Given the description of an element on the screen output the (x, y) to click on. 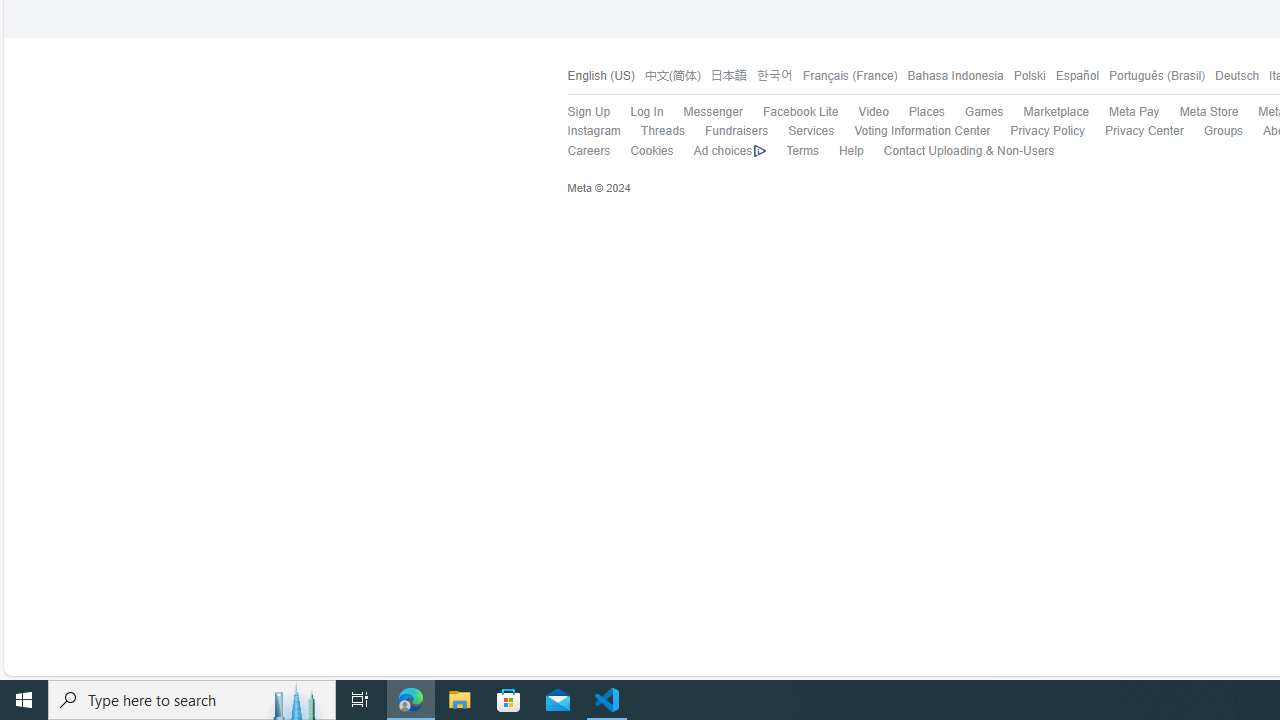
Bahasa Indonesia (950, 75)
Help (851, 150)
Meta Pay (1133, 112)
Meta Pay (1123, 112)
Polski (1028, 76)
Contact Uploading & Non-Users (958, 151)
Messenger (702, 112)
Services (801, 131)
Careers (588, 150)
Ad choices (729, 151)
Sign Up (578, 112)
Polski (1024, 75)
Threads (651, 131)
